Given the description of an element on the screen output the (x, y) to click on. 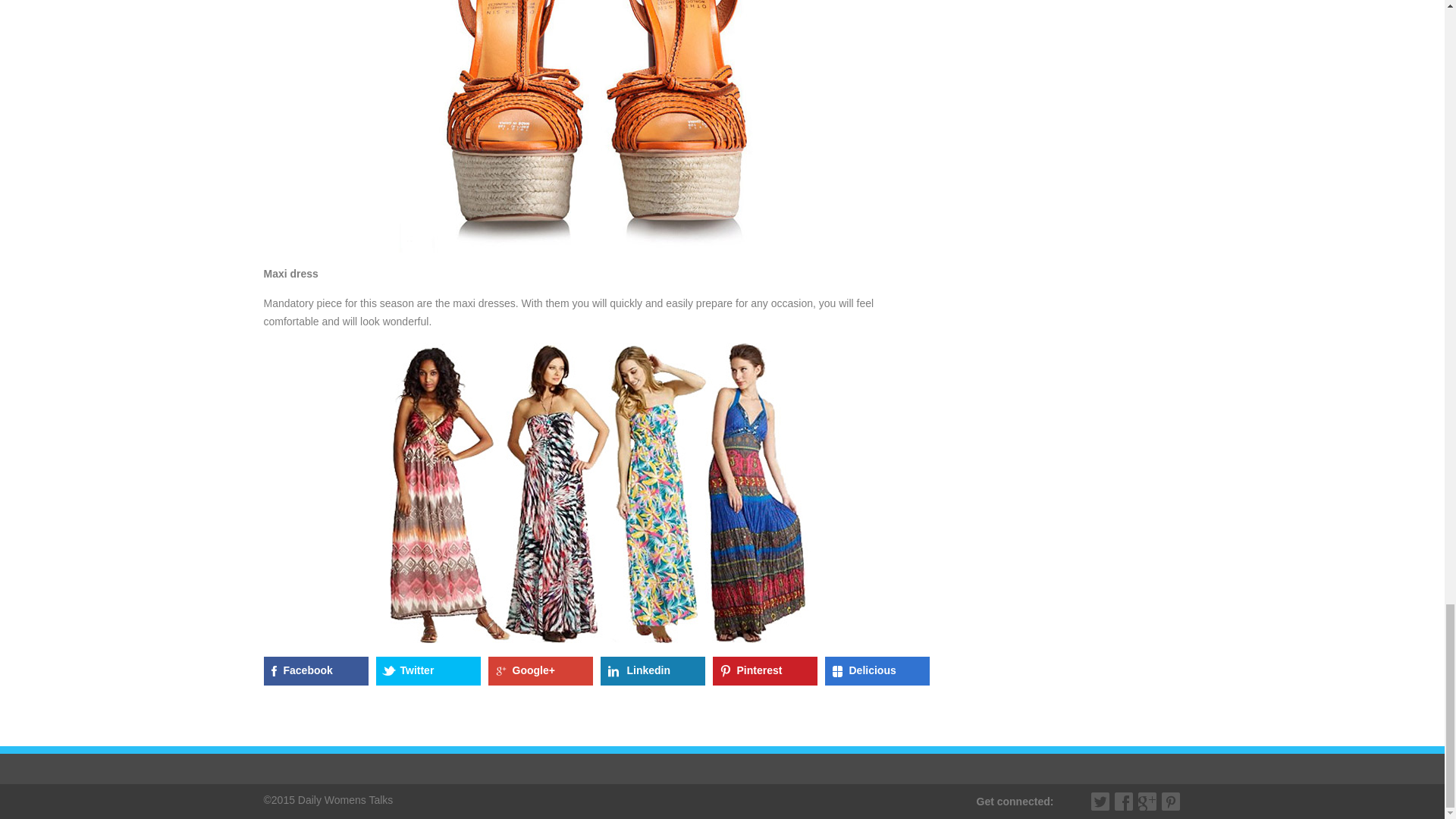
Twitter (427, 670)
Facebook (315, 670)
Linkedin (651, 670)
Pinterest (764, 670)
Pinterest (1170, 801)
Twitter (1099, 801)
Facebook (1124, 801)
Delicious (877, 670)
